Given the description of an element on the screen output the (x, y) to click on. 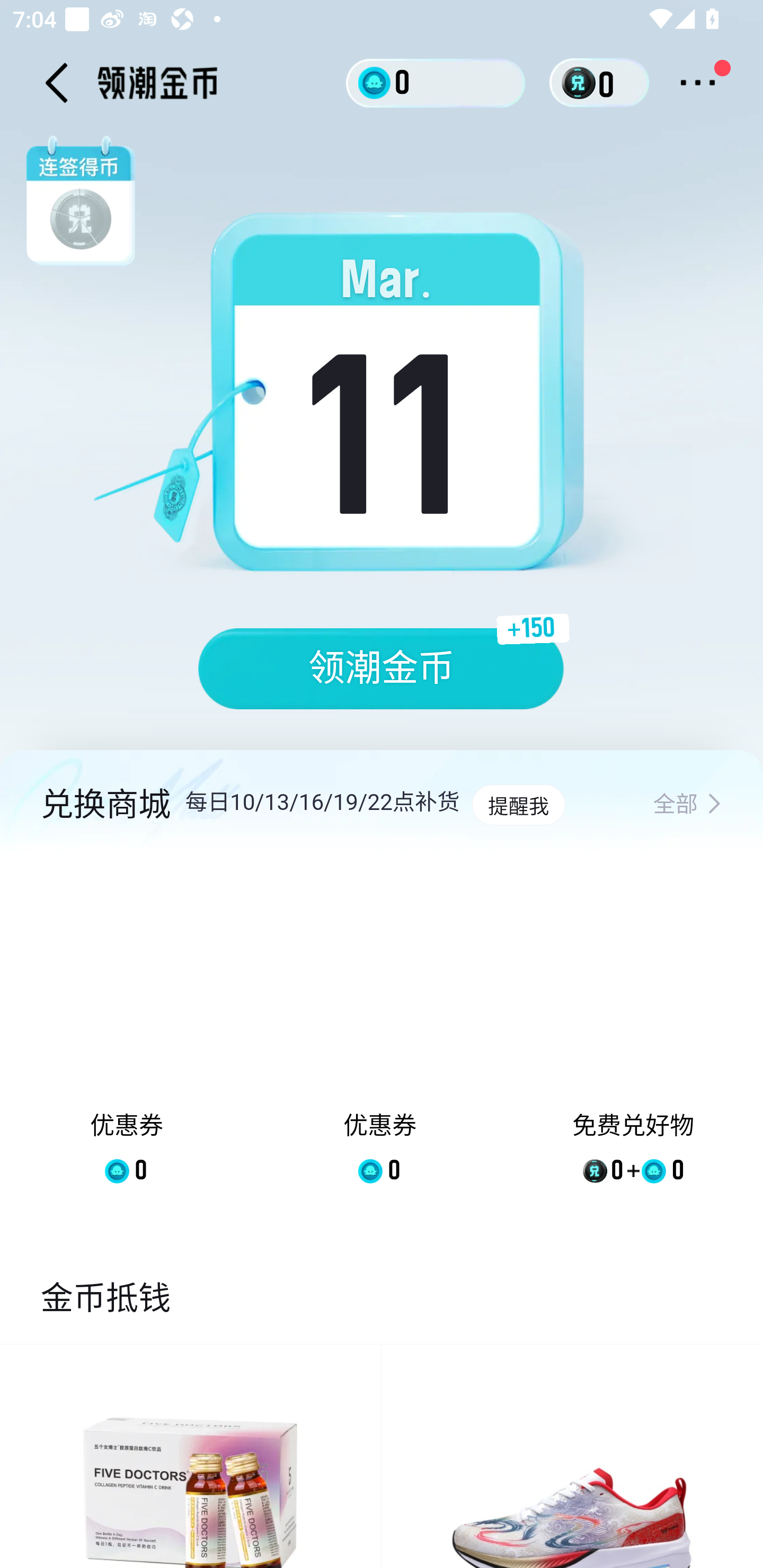
0 (435, 82)
format,webp 0 (581, 83)
领潮金币 + 150 (381, 668)
提醒我 (518, 805)
全部 (687, 804)
优惠券 0 (127, 1031)
优惠券 0 (379, 1031)
免费兑好物 0 0 (633, 1031)
